Given the description of an element on the screen output the (x, y) to click on. 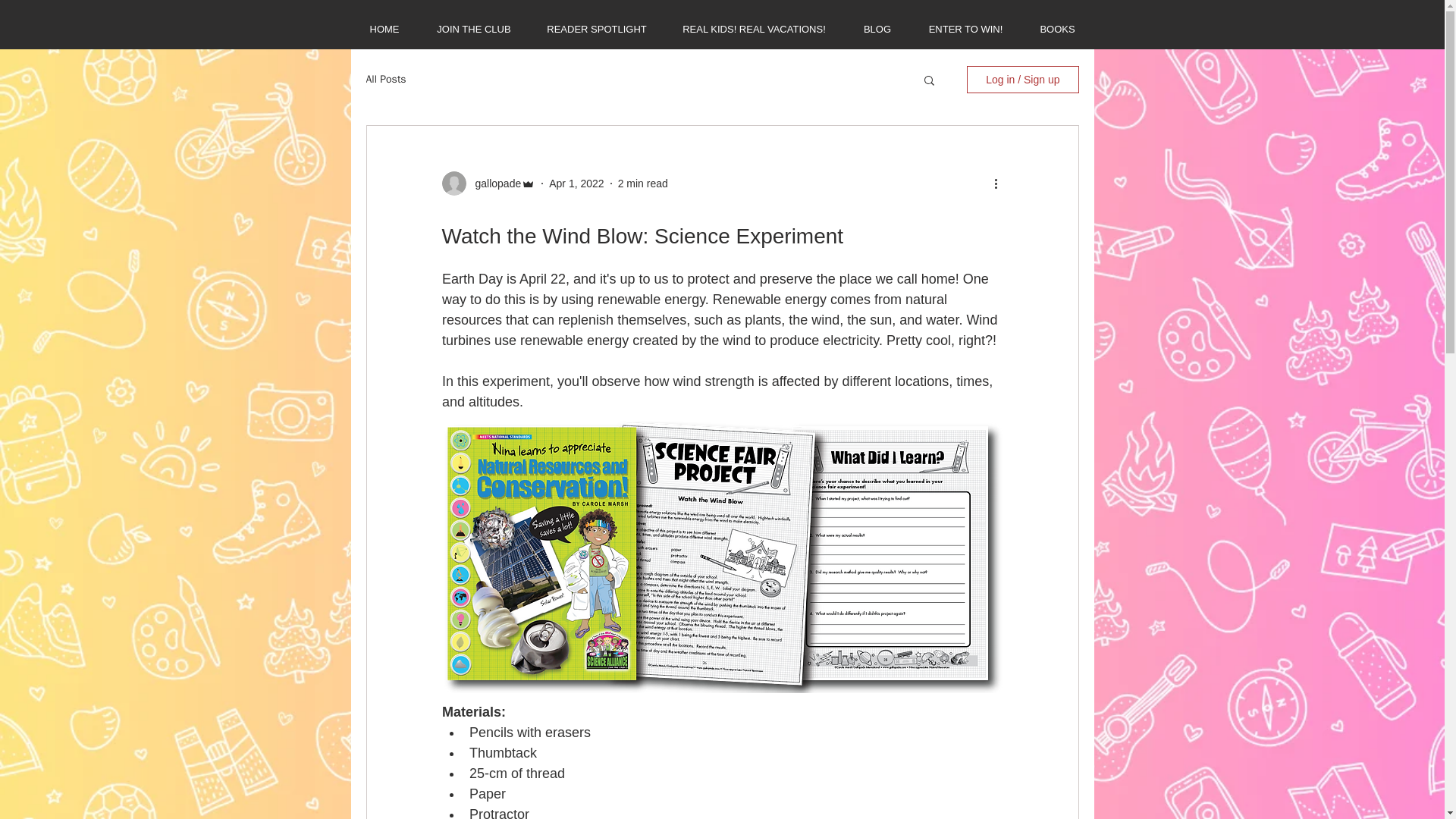
REAL KIDS! REAL VACATIONS! (753, 29)
gallopade (493, 183)
JOIN THE CLUB (474, 29)
HOME (383, 29)
2 min read (642, 183)
Apr 1, 2022 (576, 183)
BLOG (877, 29)
All Posts (385, 79)
READER SPOTLIGHT (596, 29)
ENTER TO WIN! (965, 29)
